Given the description of an element on the screen output the (x, y) to click on. 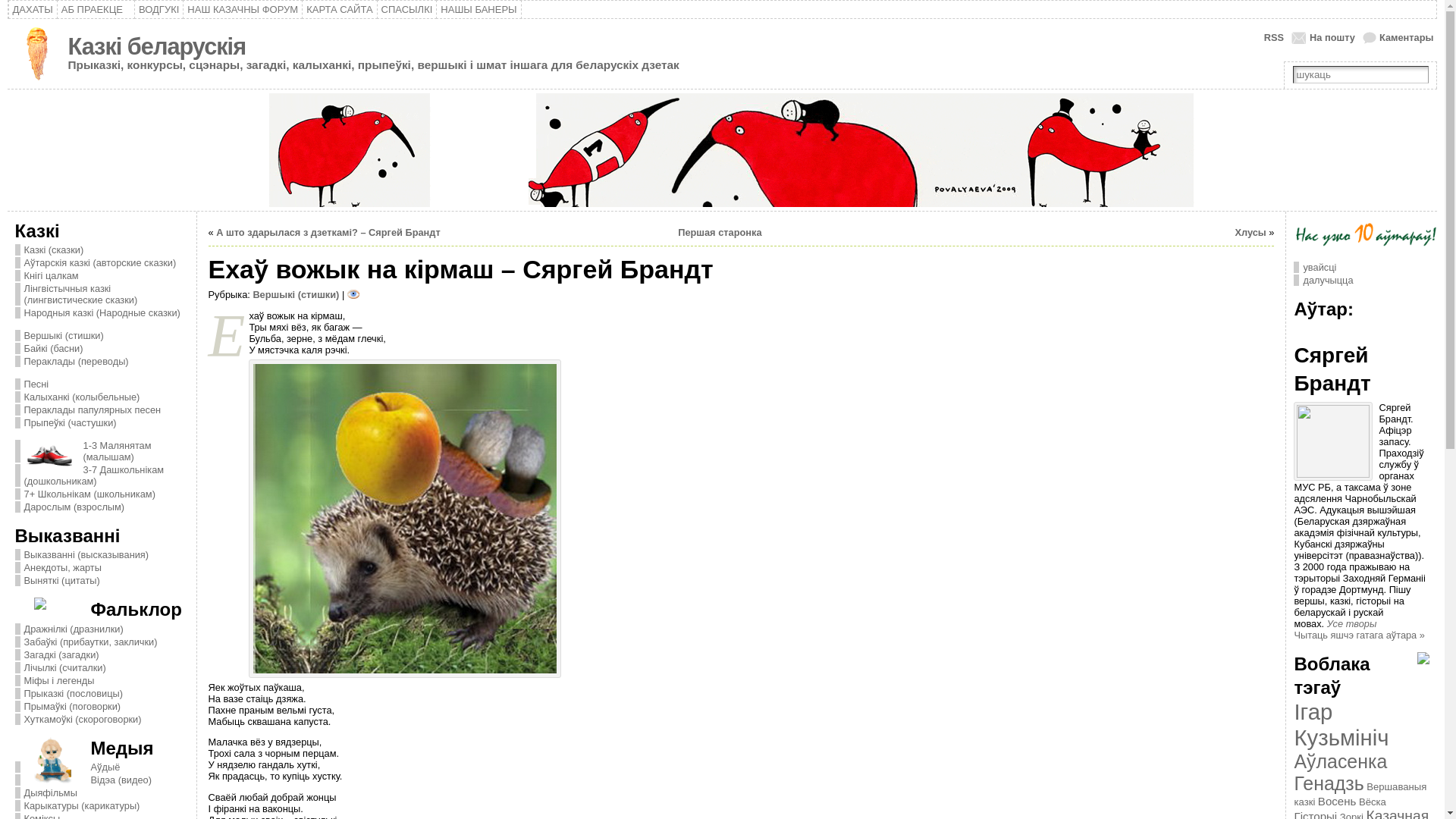
  Element type: text (722, 150)
RSS Element type: text (1265, 37)
